Given the description of an element on the screen output the (x, y) to click on. 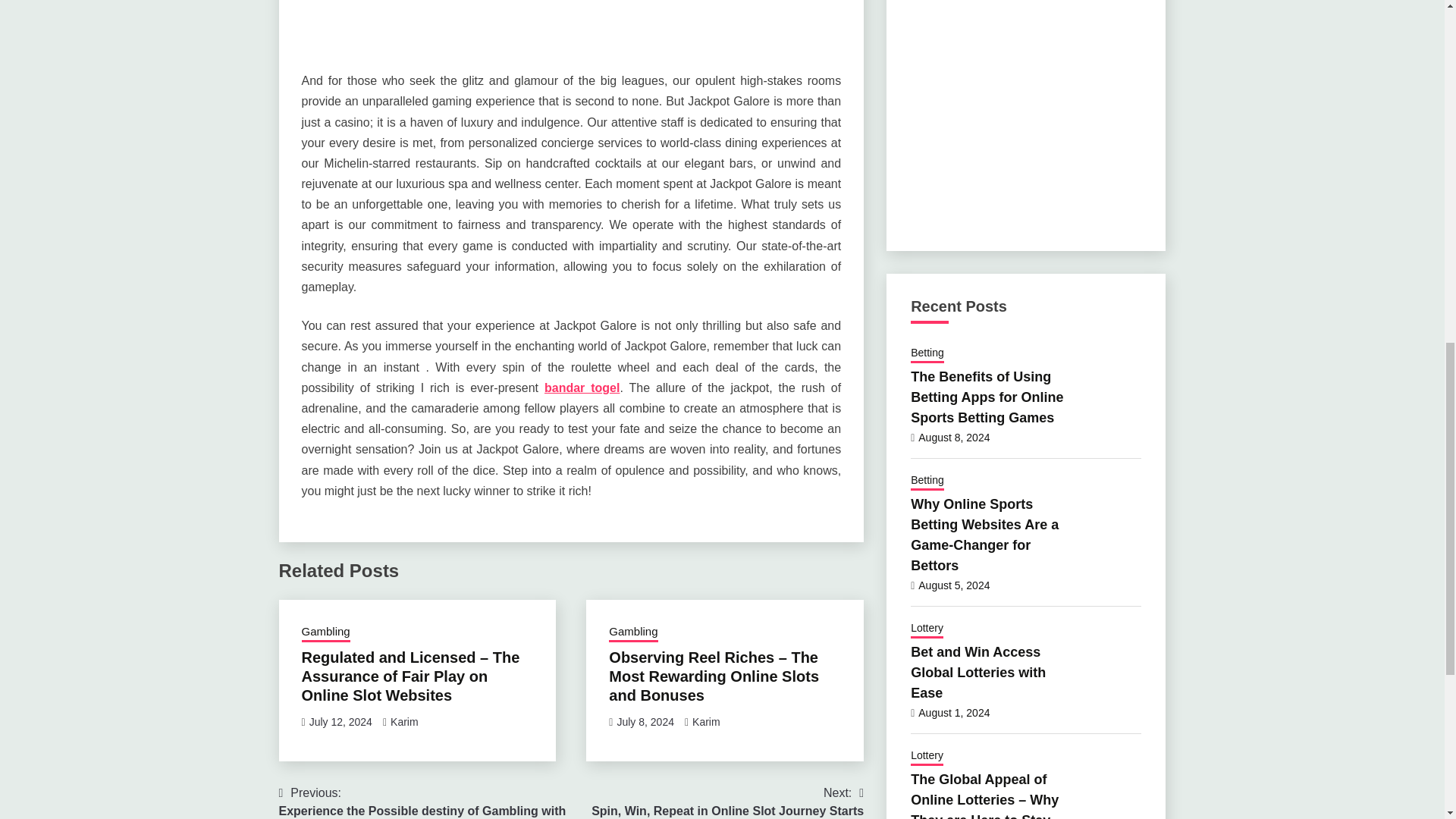
Karim (706, 721)
Gambling (633, 632)
July 8, 2024 (644, 721)
July 12, 2024 (716, 801)
bandar togel (340, 721)
Karim (582, 387)
Gambling (404, 721)
